Given the description of an element on the screen output the (x, y) to click on. 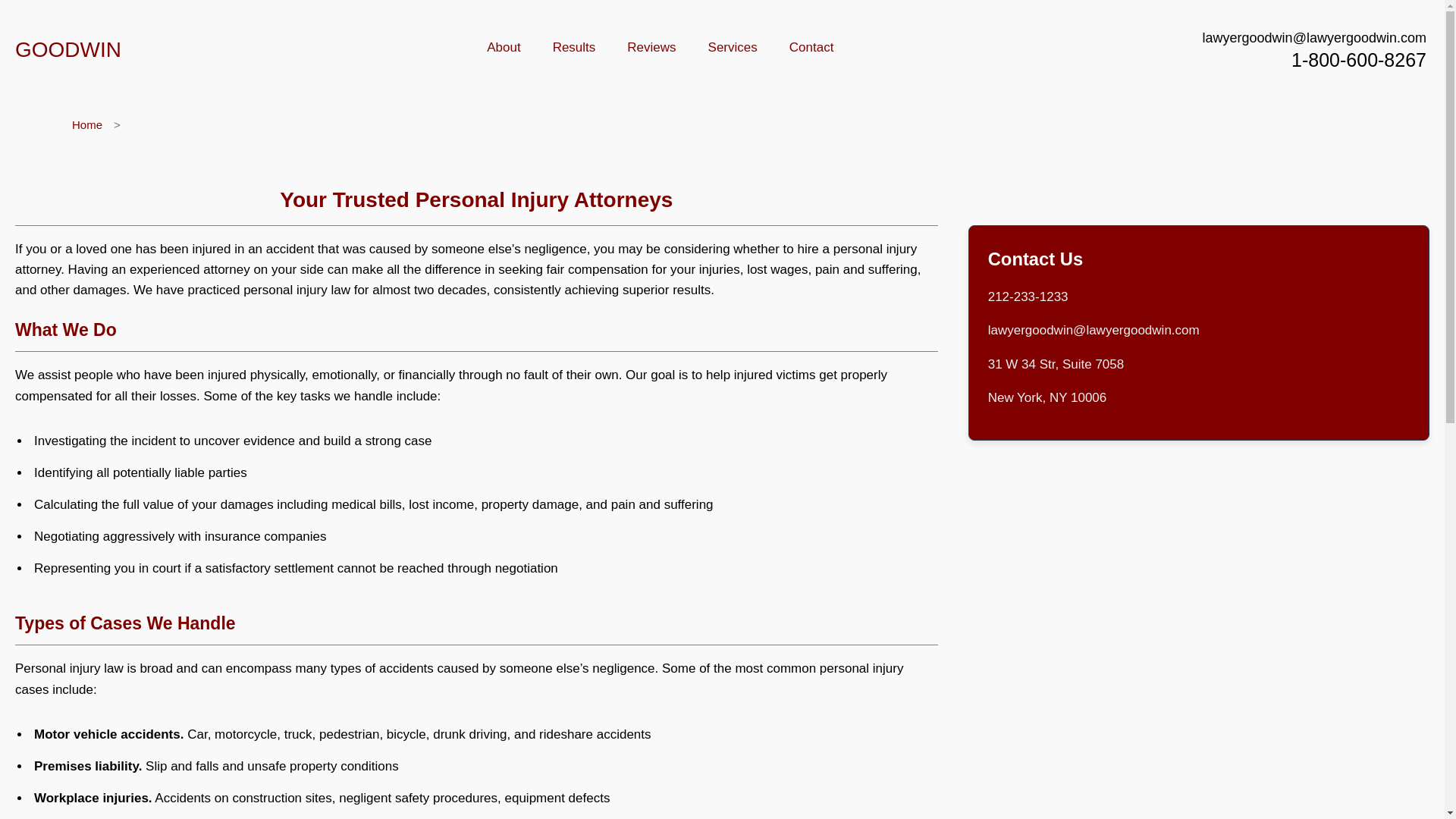
1-800-600-8267 (1358, 59)
GOODWIN (67, 49)
Results (574, 48)
Reviews (650, 48)
Home (86, 124)
Contact (811, 48)
About (503, 48)
Services (732, 48)
